Given the description of an element on the screen output the (x, y) to click on. 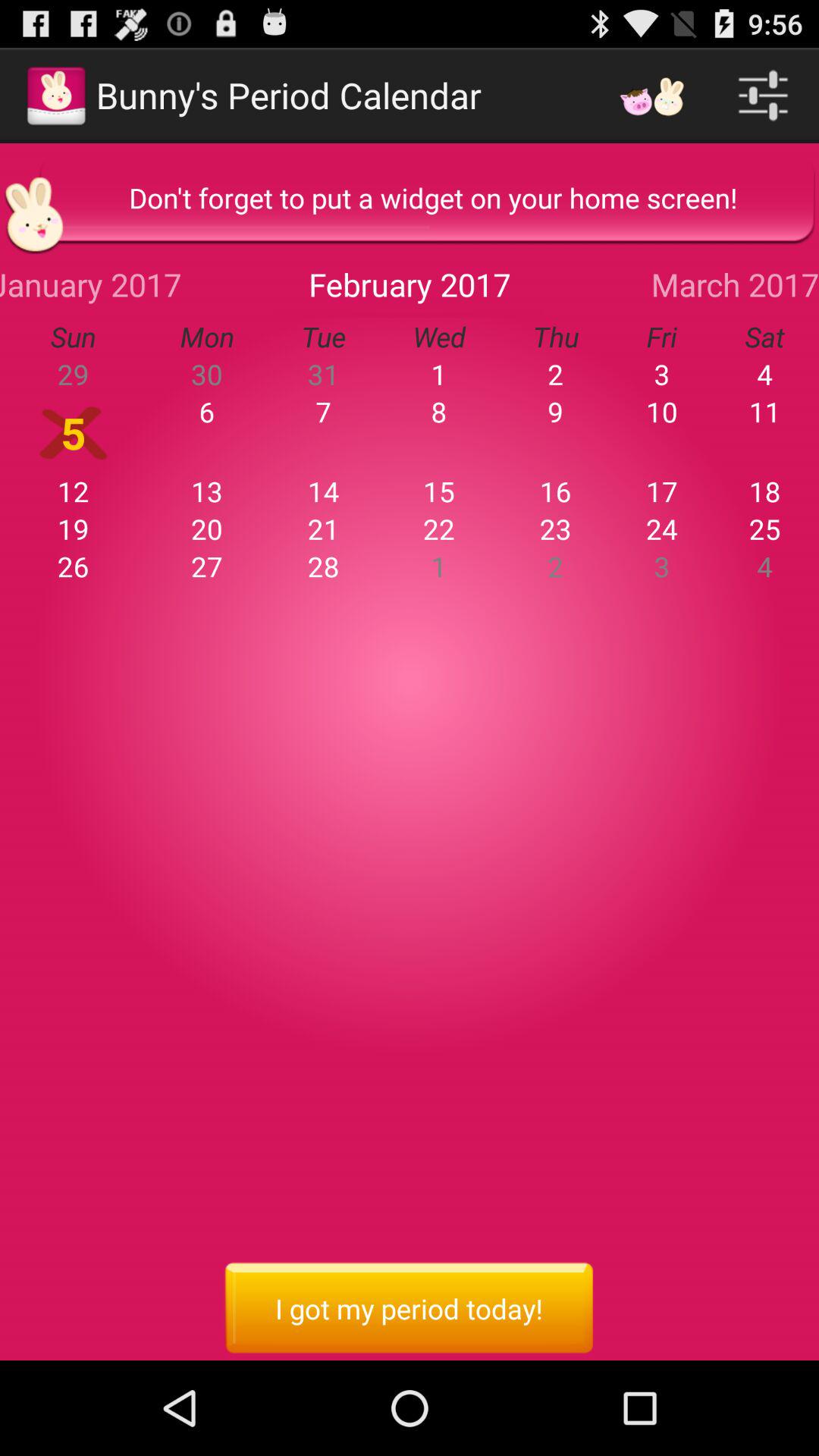
launch the app below the 30 item (323, 411)
